Given the description of an element on the screen output the (x, y) to click on. 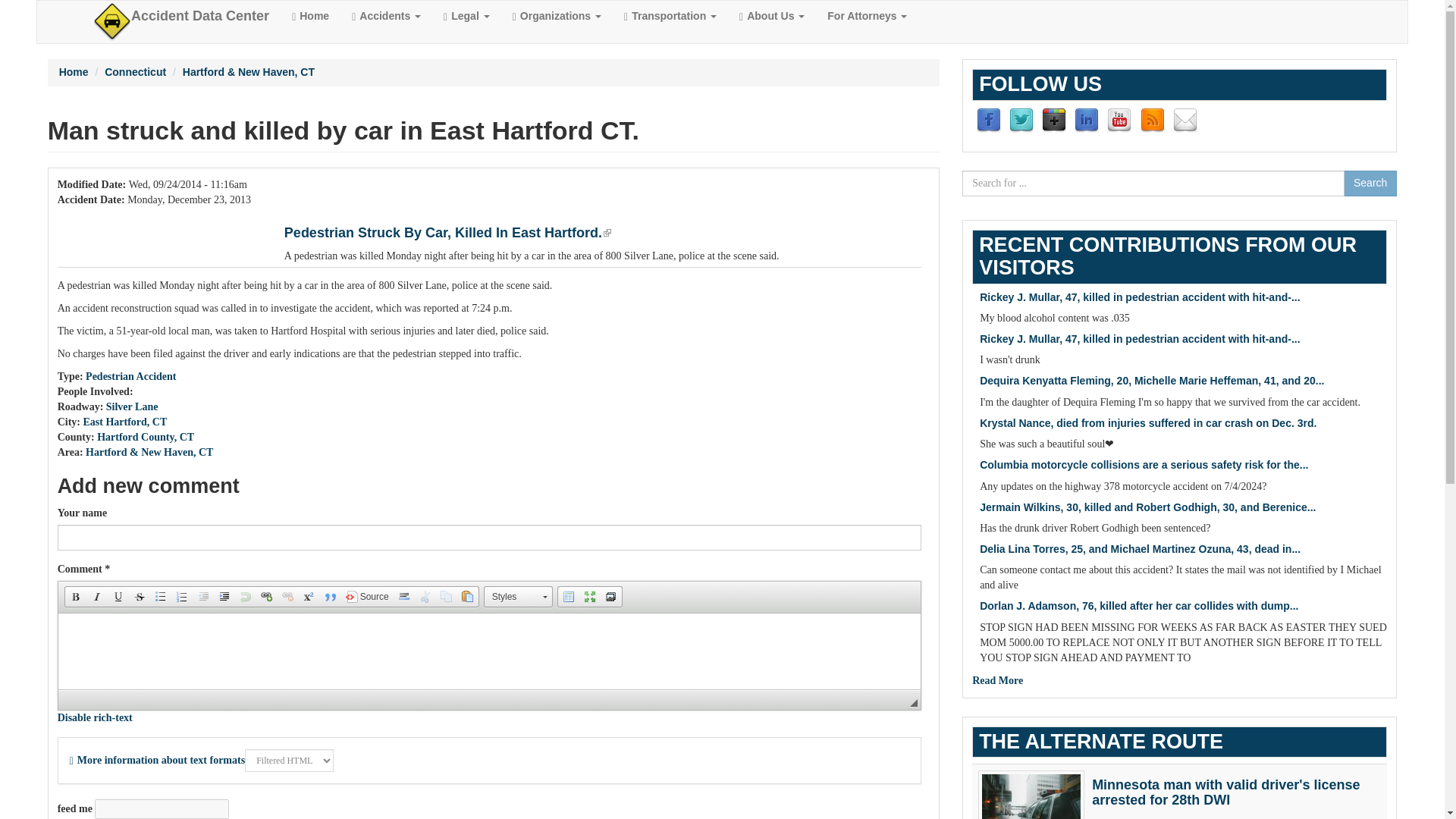
Connecticut (134, 71)
Accidents (386, 15)
Organizations (556, 15)
Legal (466, 15)
Accidents (386, 15)
Home (310, 15)
Home (200, 15)
About Us (771, 15)
Home (73, 71)
